Given the description of an element on the screen output the (x, y) to click on. 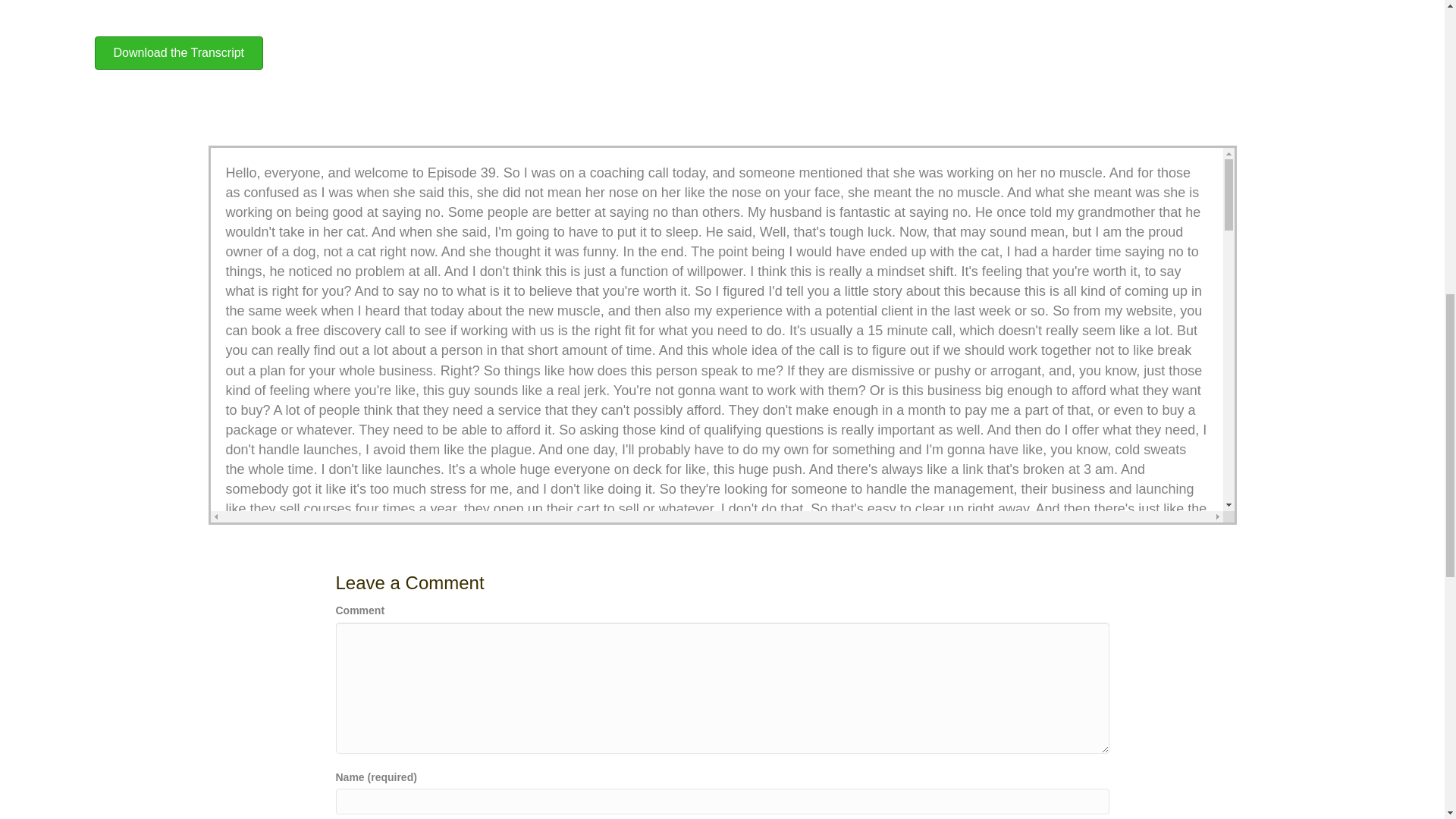
Download the Transcript (178, 52)
